Given the description of an element on the screen output the (x, y) to click on. 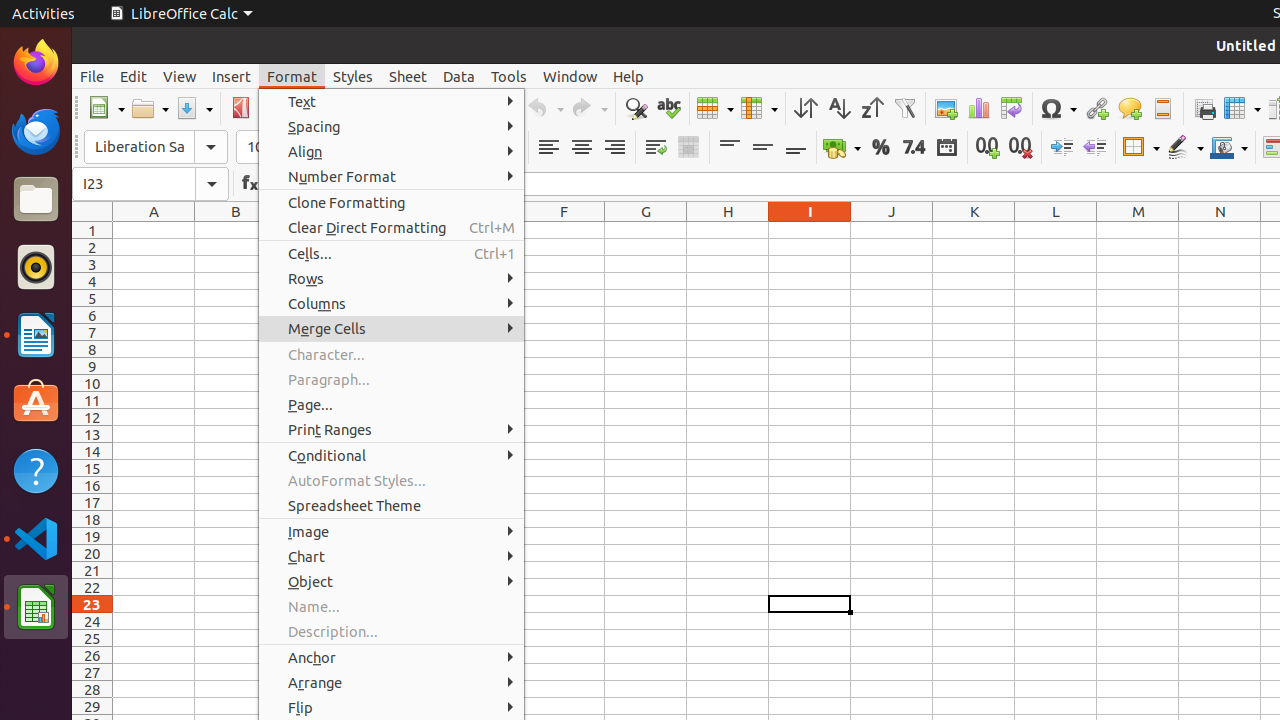
I1 Element type: table-cell (810, 230)
Column Element type: push-button (759, 108)
Page... Element type: menu-item (391, 404)
